Given the description of an element on the screen output the (x, y) to click on. 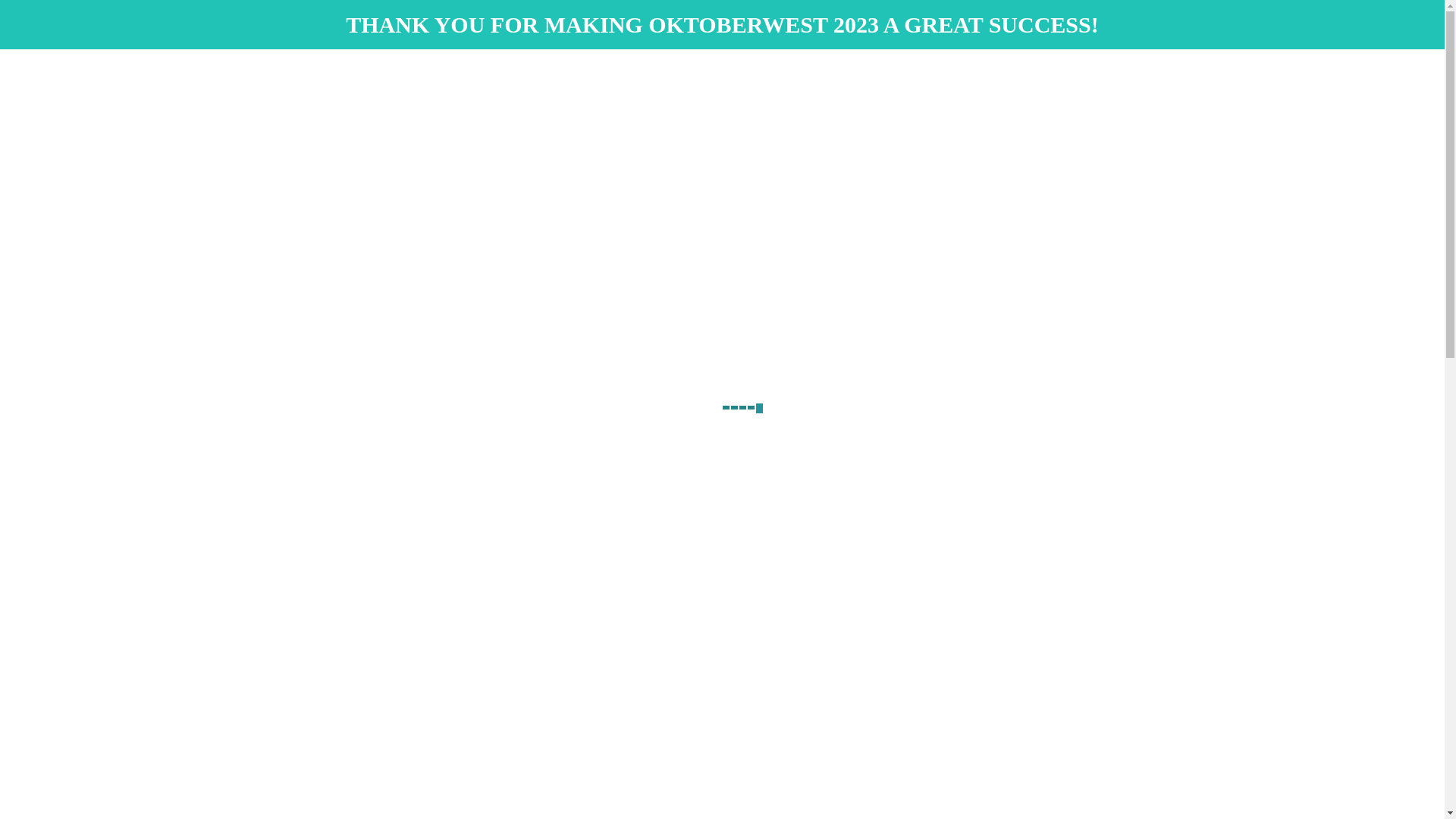
Festival Info Element type: text (969, 120)
Get Involved Element type: text (1046, 120)
Home Element type: text (780, 120)
About Element type: text (1111, 120)
Schedule Element type: text (835, 120)
Activities Element type: text (898, 120)
